Given the description of an element on the screen output the (x, y) to click on. 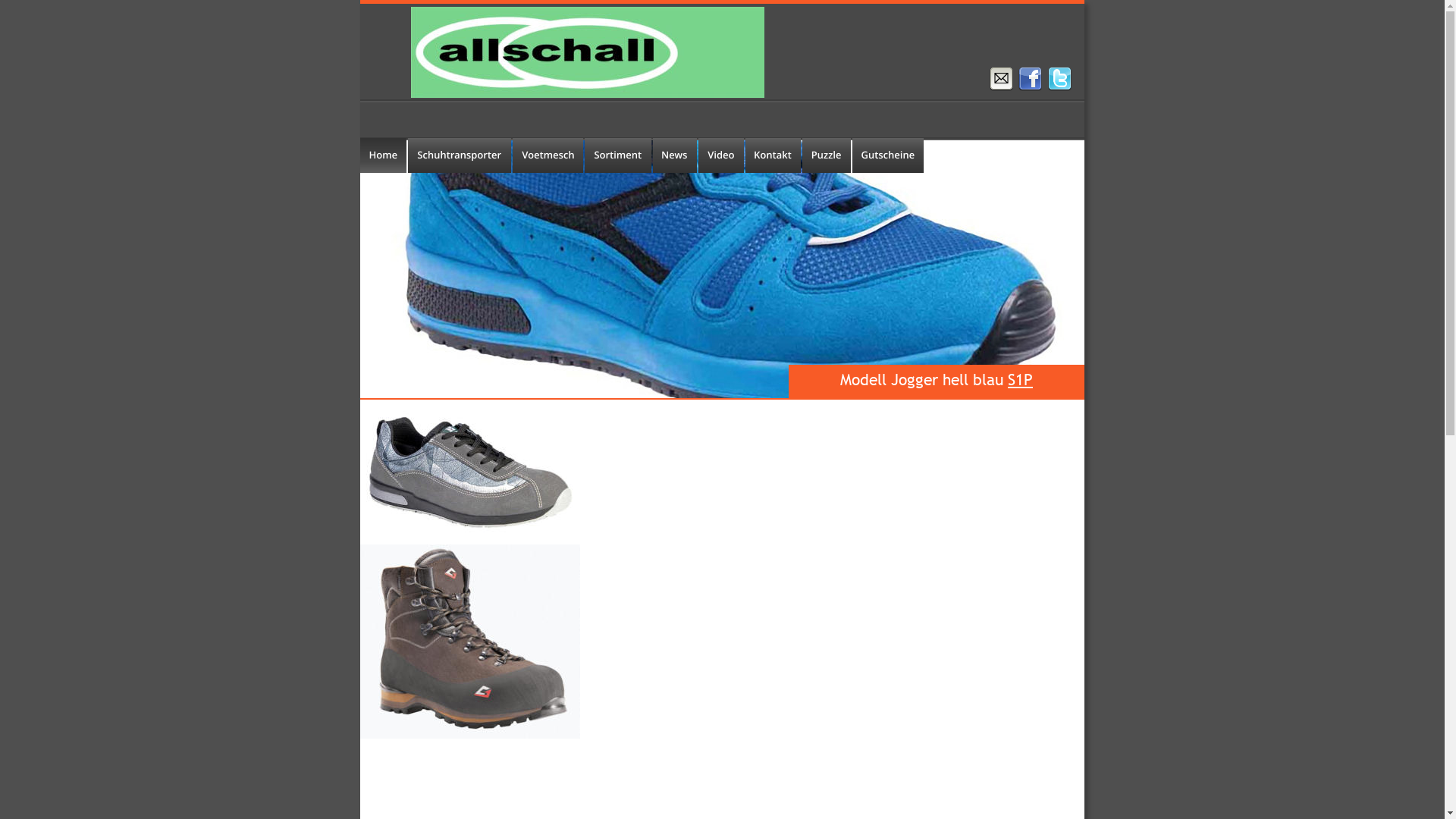
S1P Element type: text (1019, 379)
Pet Grey low S3 Element type: hover (468, 473)
Extrem S3 Element type: hover (470, 641)
